Given the description of an element on the screen output the (x, y) to click on. 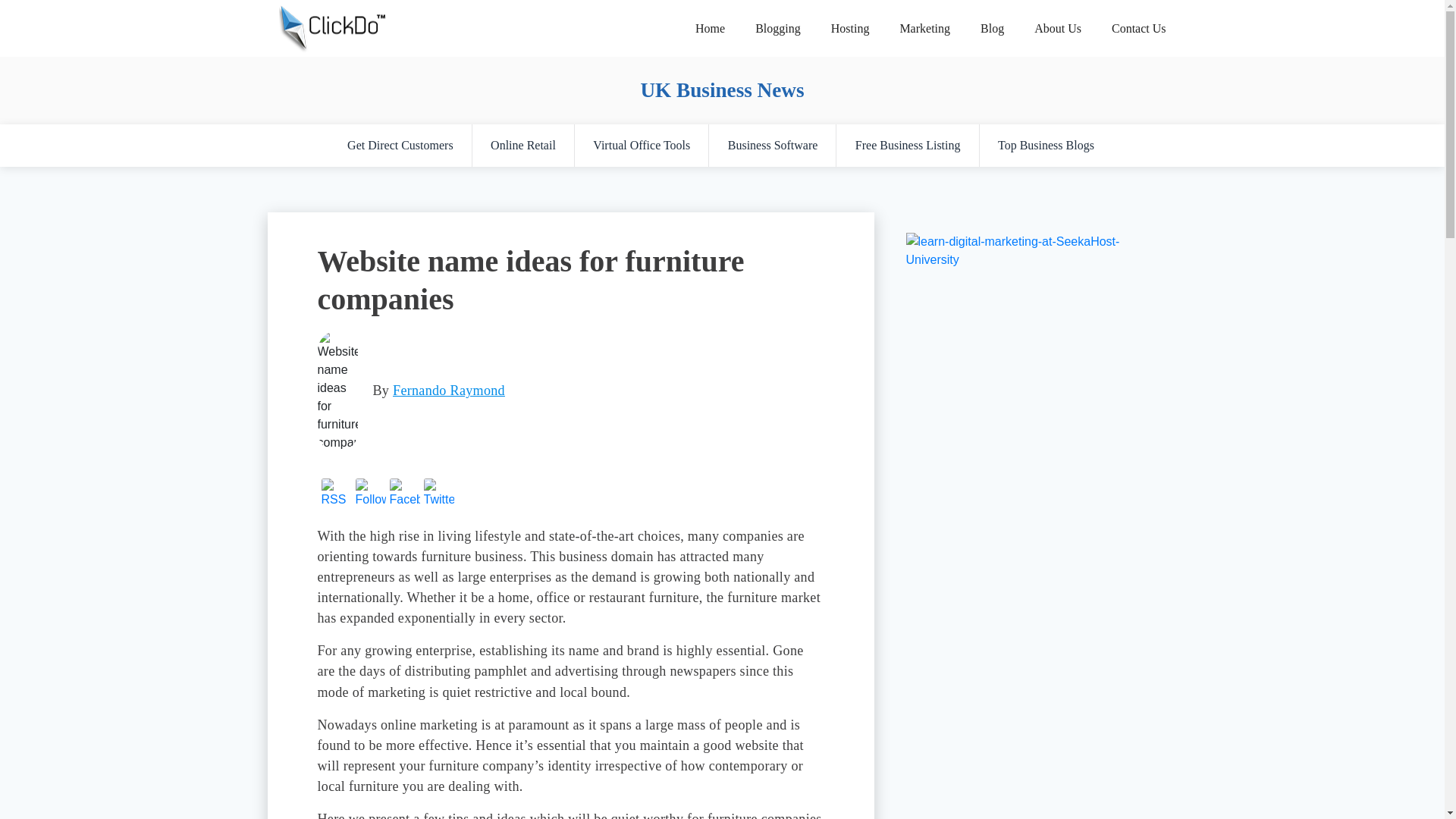
Blog (992, 28)
Blogging (777, 28)
Marketing (924, 28)
Follow by Email (370, 493)
Home (709, 28)
RSS (336, 493)
Twitter (437, 493)
Hosting (850, 28)
About Us (1057, 28)
Facebook (405, 493)
